Given the description of an element on the screen output the (x, y) to click on. 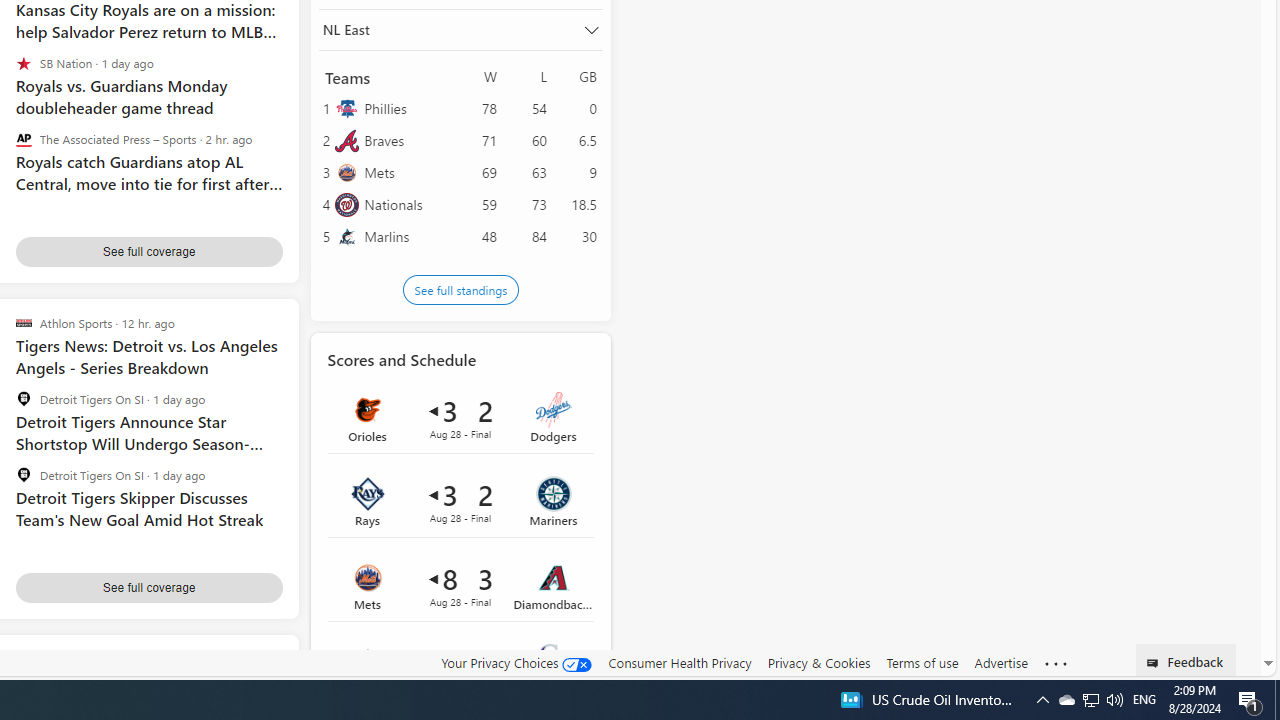
NL East (459, 29)
Braves Surge In Extras, Take Down Twins on Wednesday Night (148, 682)
Terms of use (921, 662)
Mets 8 vs Diamondbacks 3Final Date Aug 28 (459, 585)
Consumer Health Privacy (680, 663)
